Given the description of an element on the screen output the (x, y) to click on. 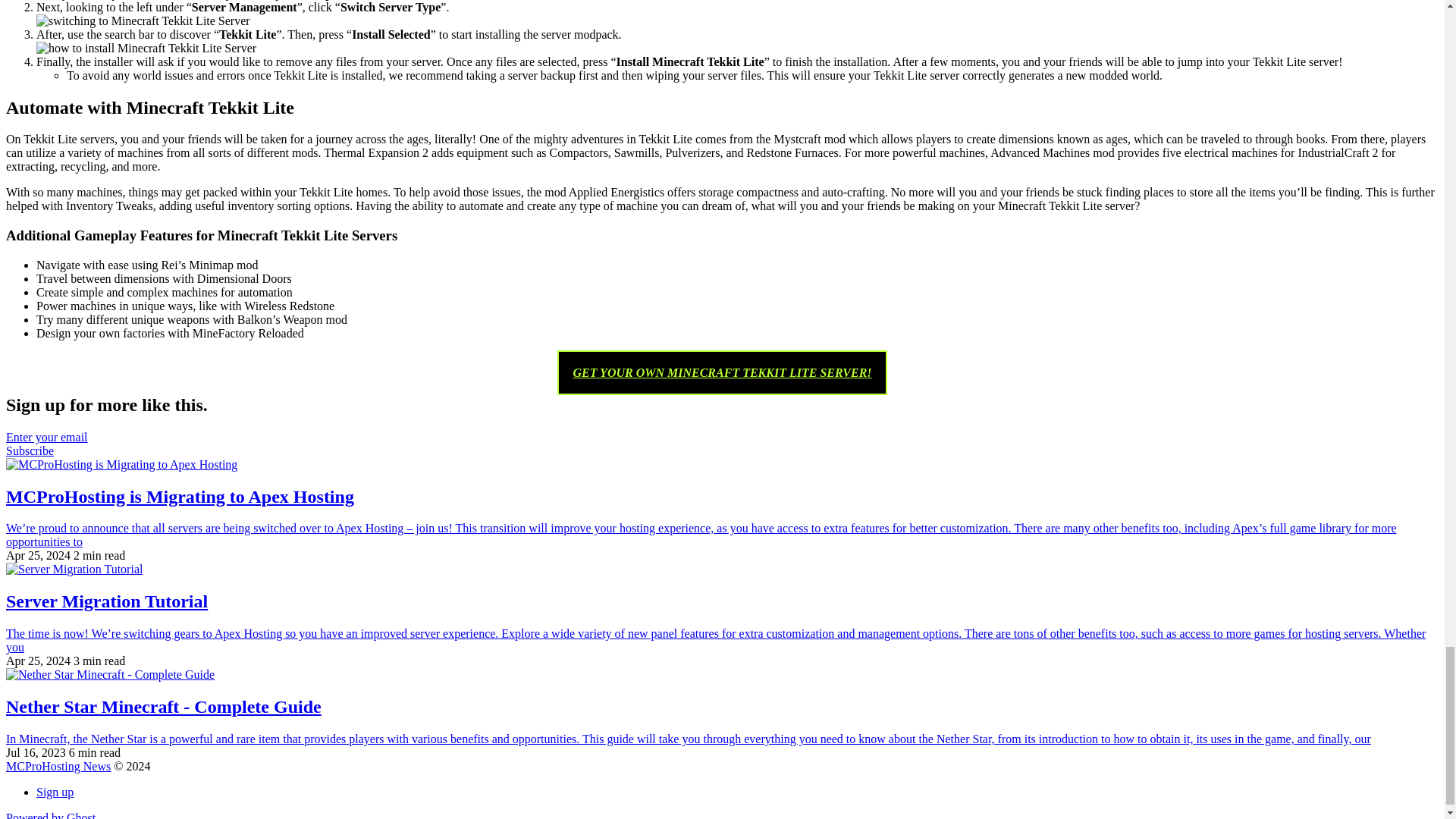
Sign up (55, 791)
MCProHosting News (57, 766)
GET YOUR OWN MINECRAFT TEKKIT LITE SERVER! (722, 372)
